Given the description of an element on the screen output the (x, y) to click on. 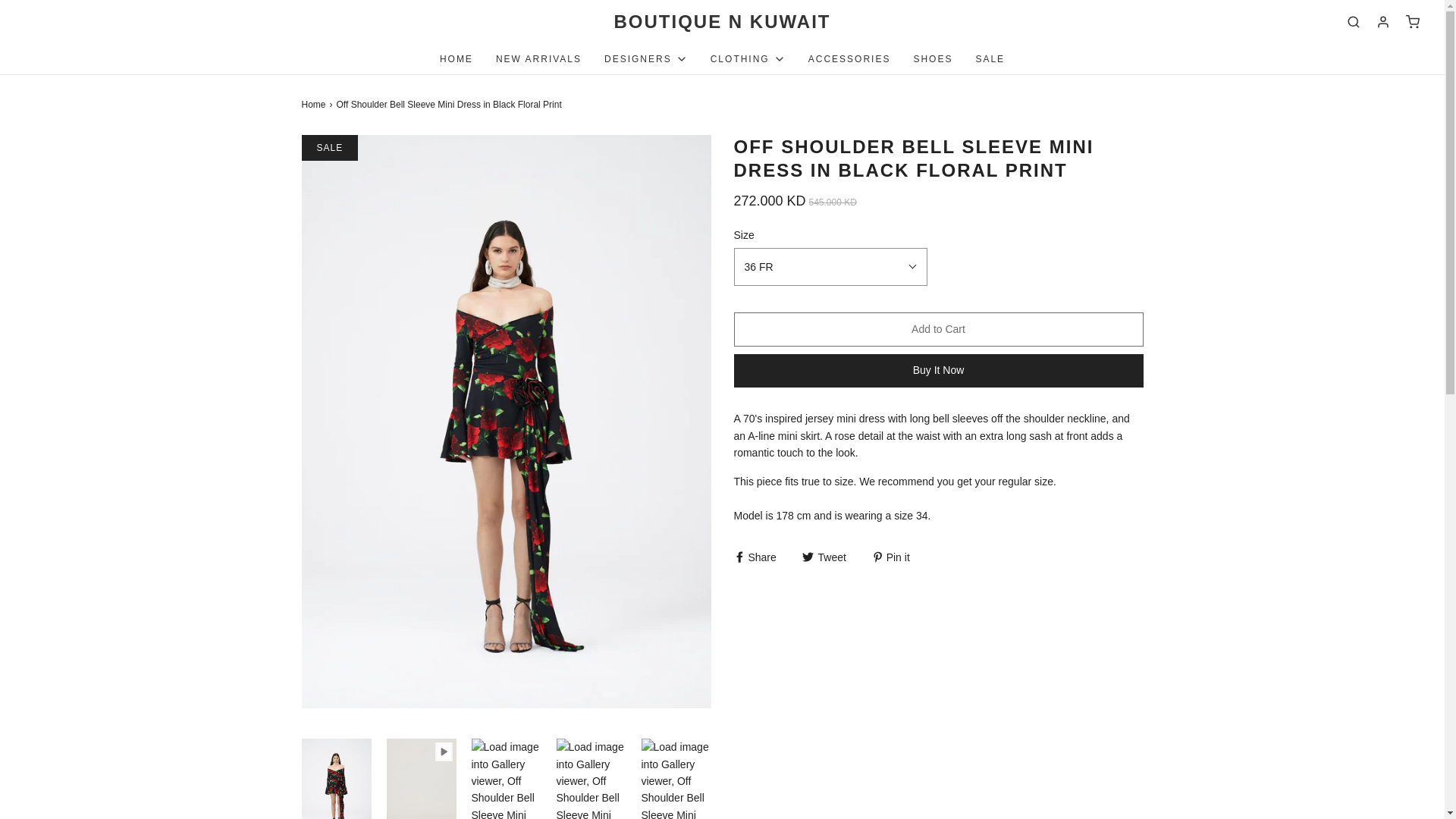
Search (1352, 21)
Back to the frontpage (315, 104)
Cart (1412, 21)
Log in (1382, 21)
